Given the description of an element on the screen output the (x, y) to click on. 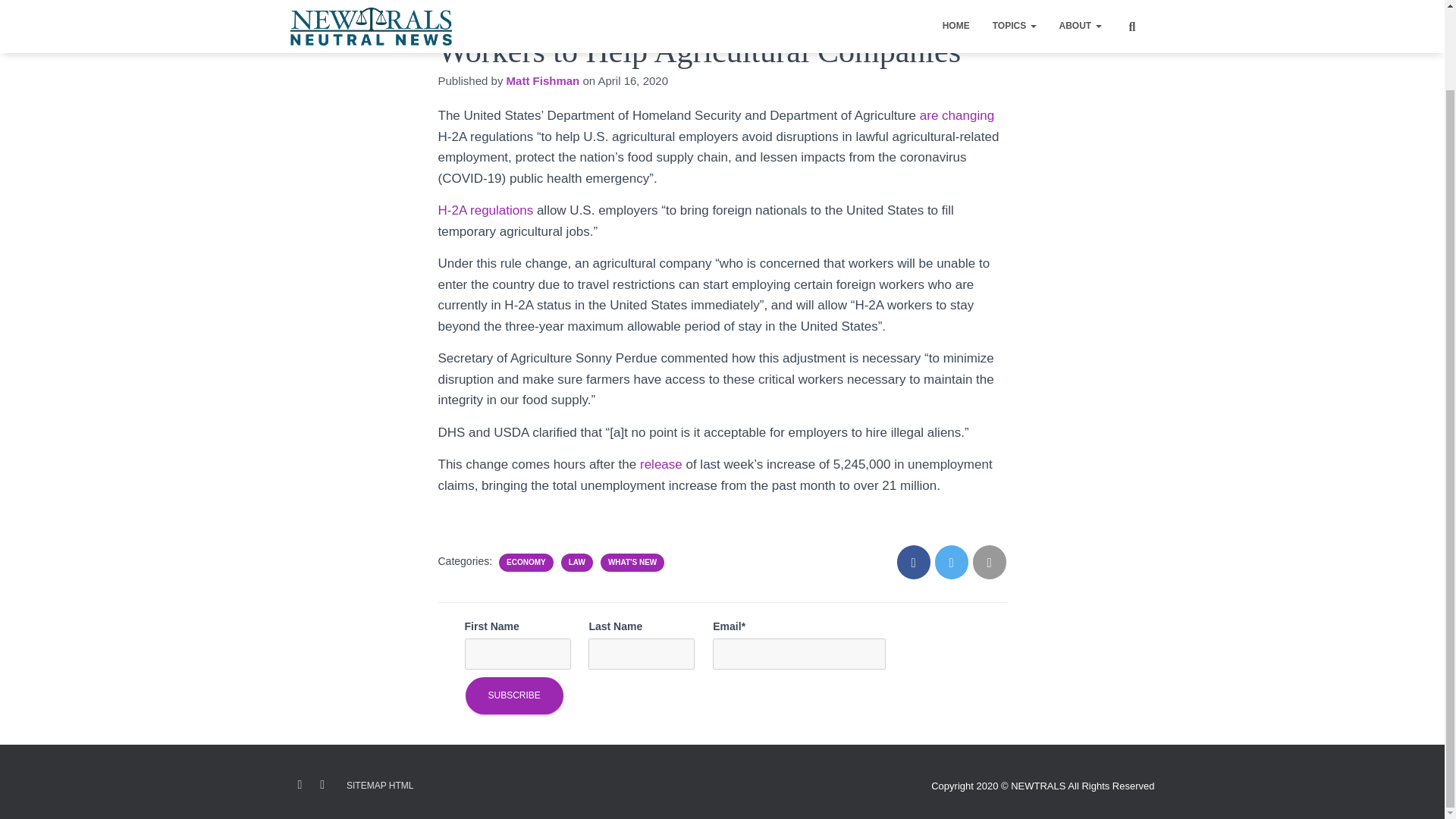
Matt Fishman (542, 80)
ECONOMY (526, 562)
WHAT'S NEW (632, 562)
release (662, 464)
SITEMAP HTML (379, 785)
Subscribe (514, 695)
H-2A regulations (486, 210)
LAW (577, 562)
are changing (957, 115)
Subscribe (514, 695)
